Given the description of an element on the screen output the (x, y) to click on. 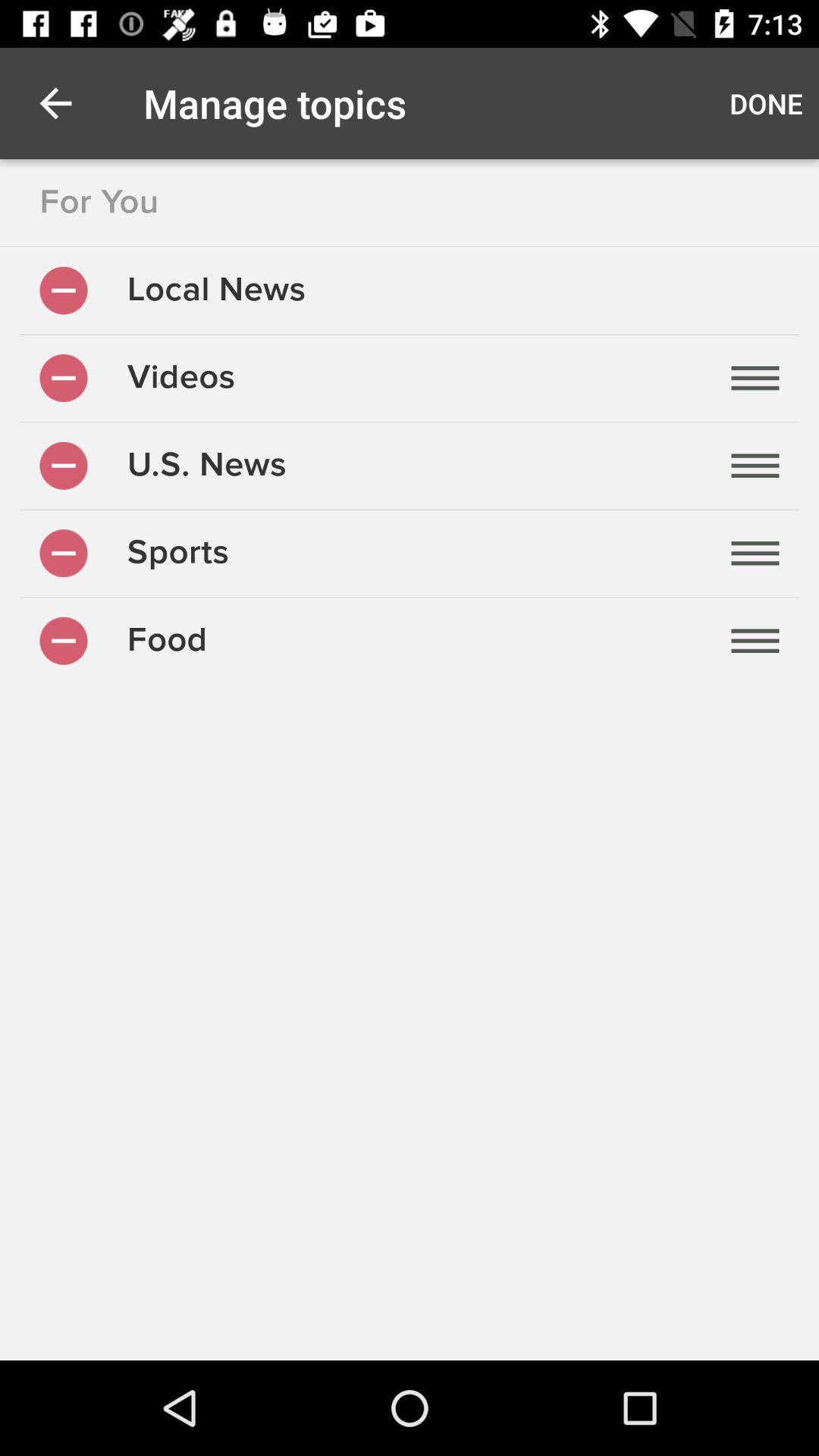
remove videos (63, 378)
